Given the description of an element on the screen output the (x, y) to click on. 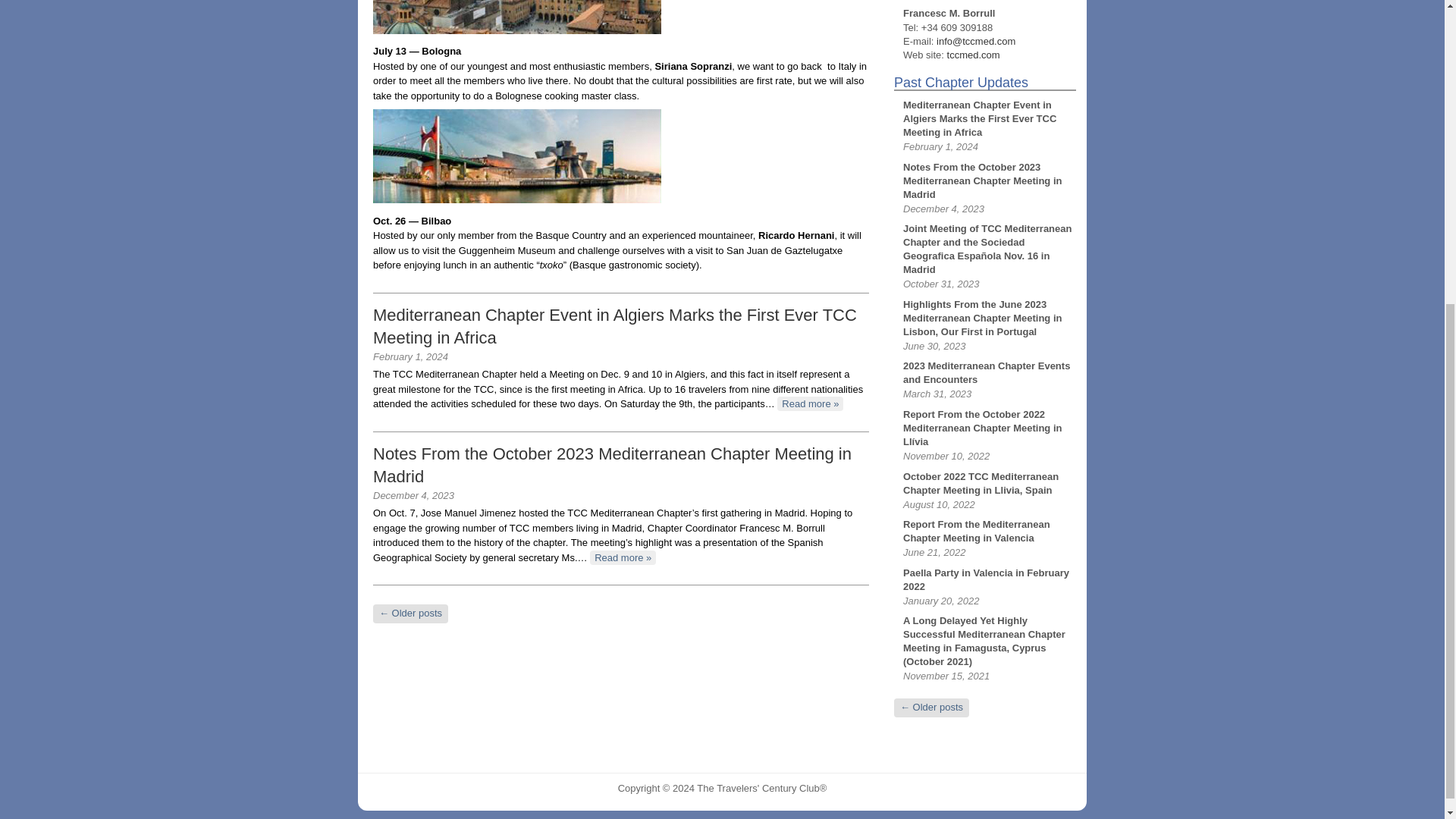
Report From the Mediterranean Chapter Meeting in Valencia (975, 530)
2023 Mediterranean Chapter Events and Encounters (986, 372)
2023 Mediterranean Chapter Events and Encounters (986, 372)
Paella Party in Valencia in February 2022 (985, 579)
